Given the description of an element on the screen output the (x, y) to click on. 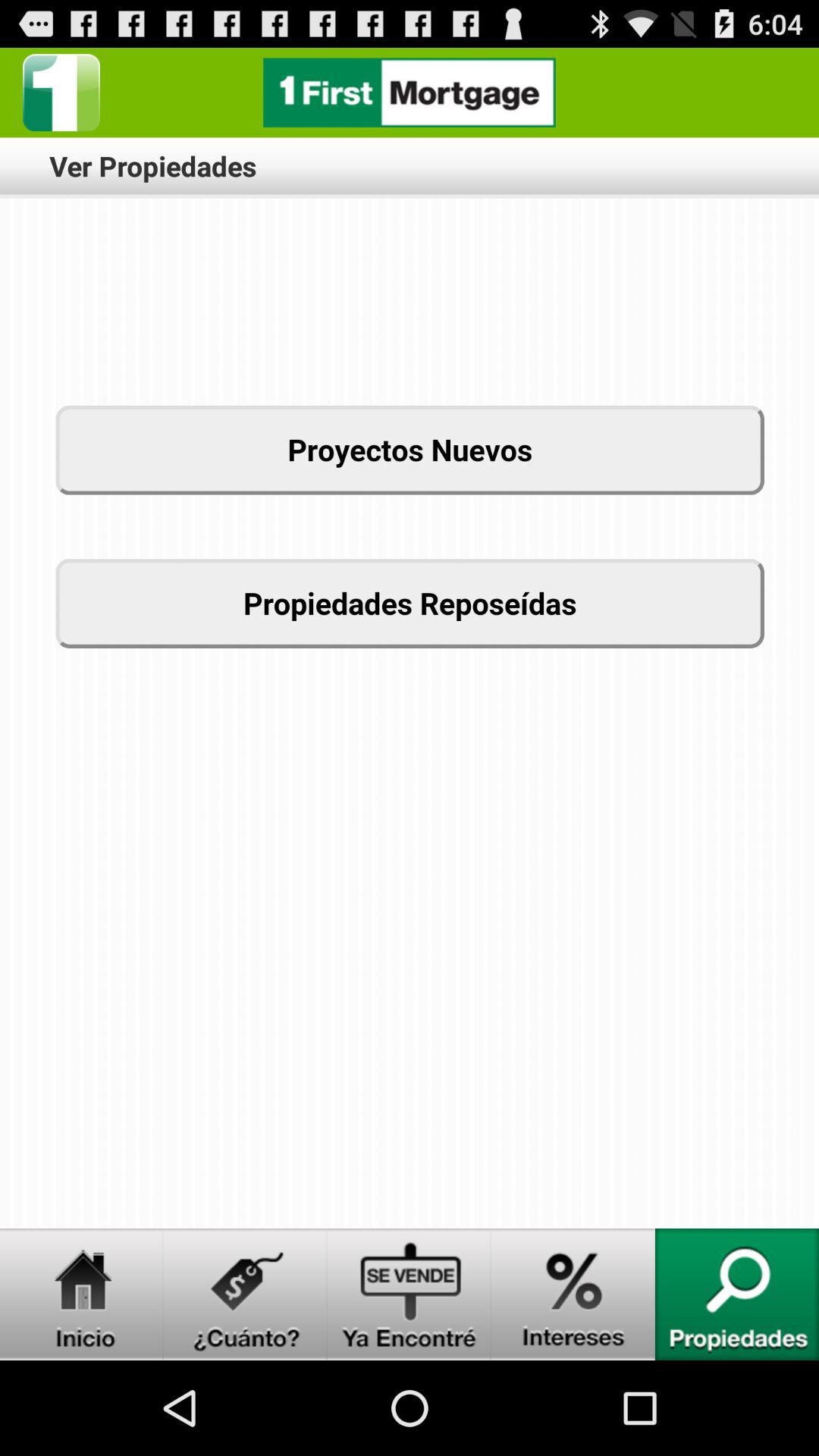
logon (409, 1294)
